Given the description of an element on the screen output the (x, y) to click on. 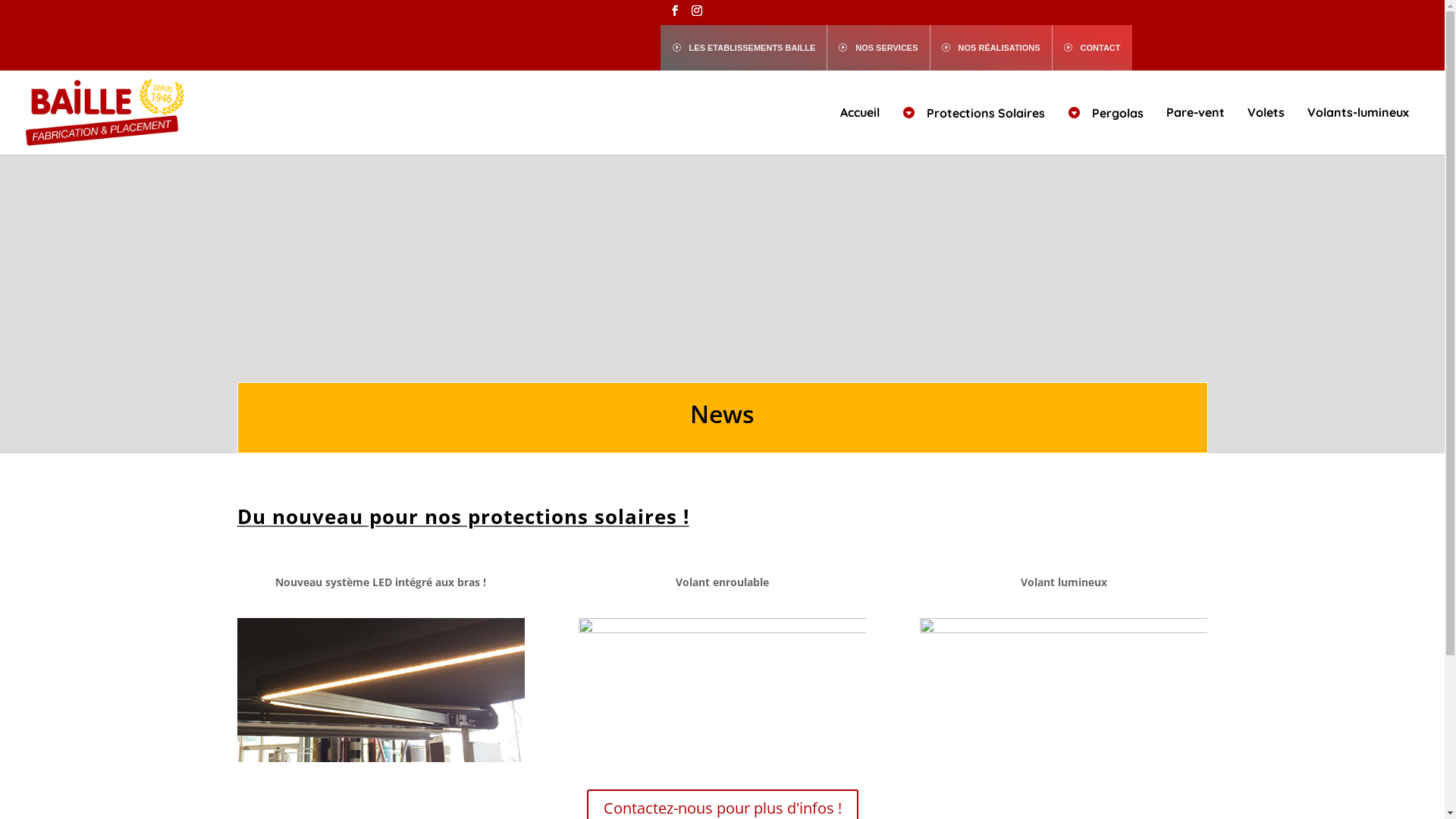
LES ETABLISSEMENTS BAILLE Element type: text (743, 46)
Accueil Element type: text (859, 128)
NOS SERVICES Element type: text (877, 46)
Volants-lumineux Element type: text (1357, 128)
CONTACT Element type: text (1091, 46)
Volets Element type: text (1265, 128)
Pergolas Element type: text (1105, 129)
Protections Solaires Element type: text (973, 129)
Pare-vent Element type: text (1195, 128)
